Given the description of an element on the screen output the (x, y) to click on. 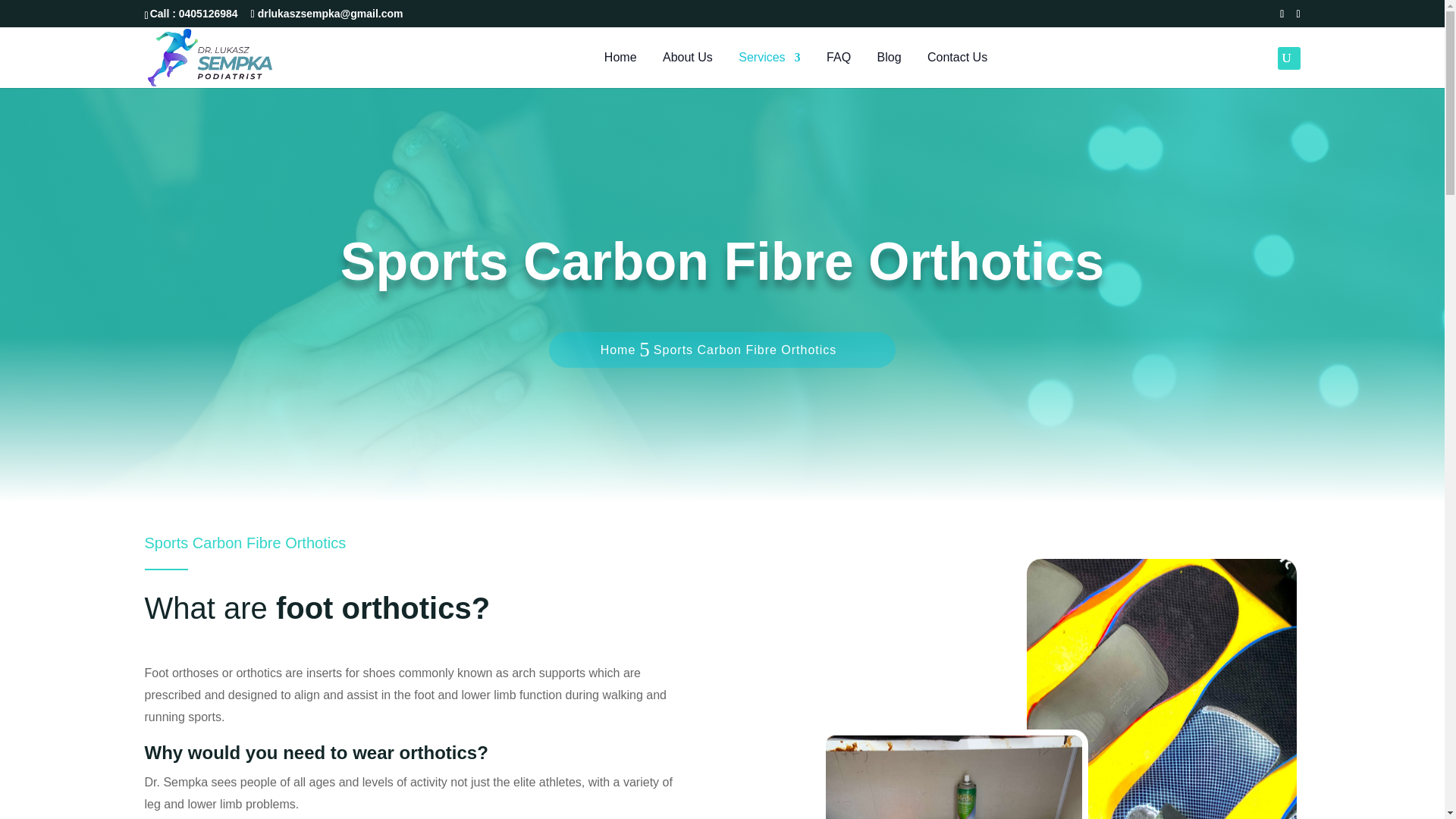
0405126984 (210, 13)
Services (768, 69)
Home (617, 350)
Sports Carbon Fibre Orthotics (745, 350)
Contact Us (957, 69)
Home (620, 69)
FAQ (838, 69)
Blog (889, 69)
About Us (687, 69)
